Given the description of an element on the screen output the (x, y) to click on. 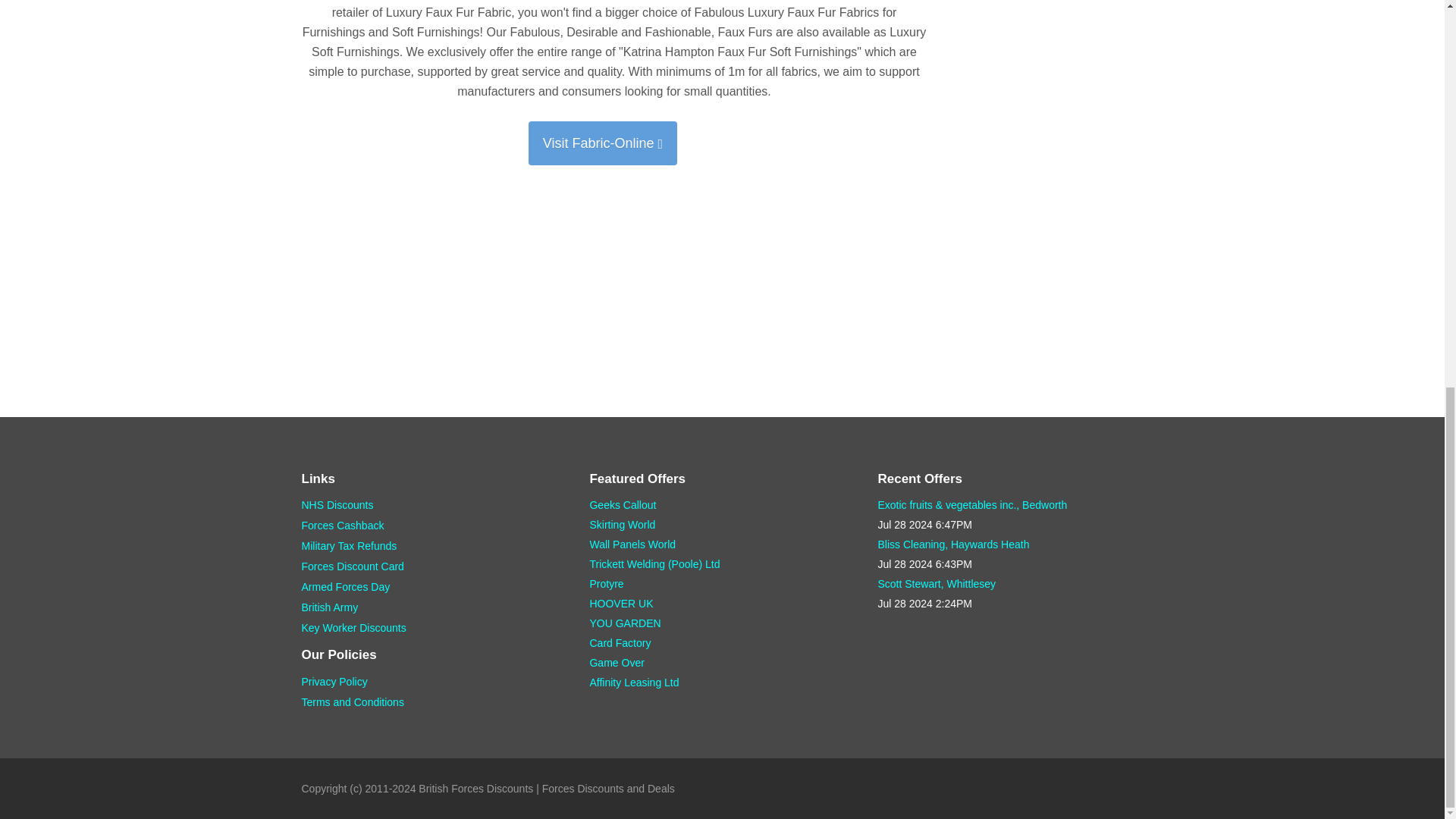
NHS Discounts (337, 504)
Key Worker Discounts (353, 627)
Military Tax Refunds (349, 545)
Visit Fabric-Online (602, 143)
British Army (329, 607)
Armed Forces Day (345, 586)
Privacy Policy (334, 681)
Forces Discount Card (352, 566)
Terms and Conditions (352, 702)
Forces Cashback (342, 525)
